Given the description of an element on the screen output the (x, y) to click on. 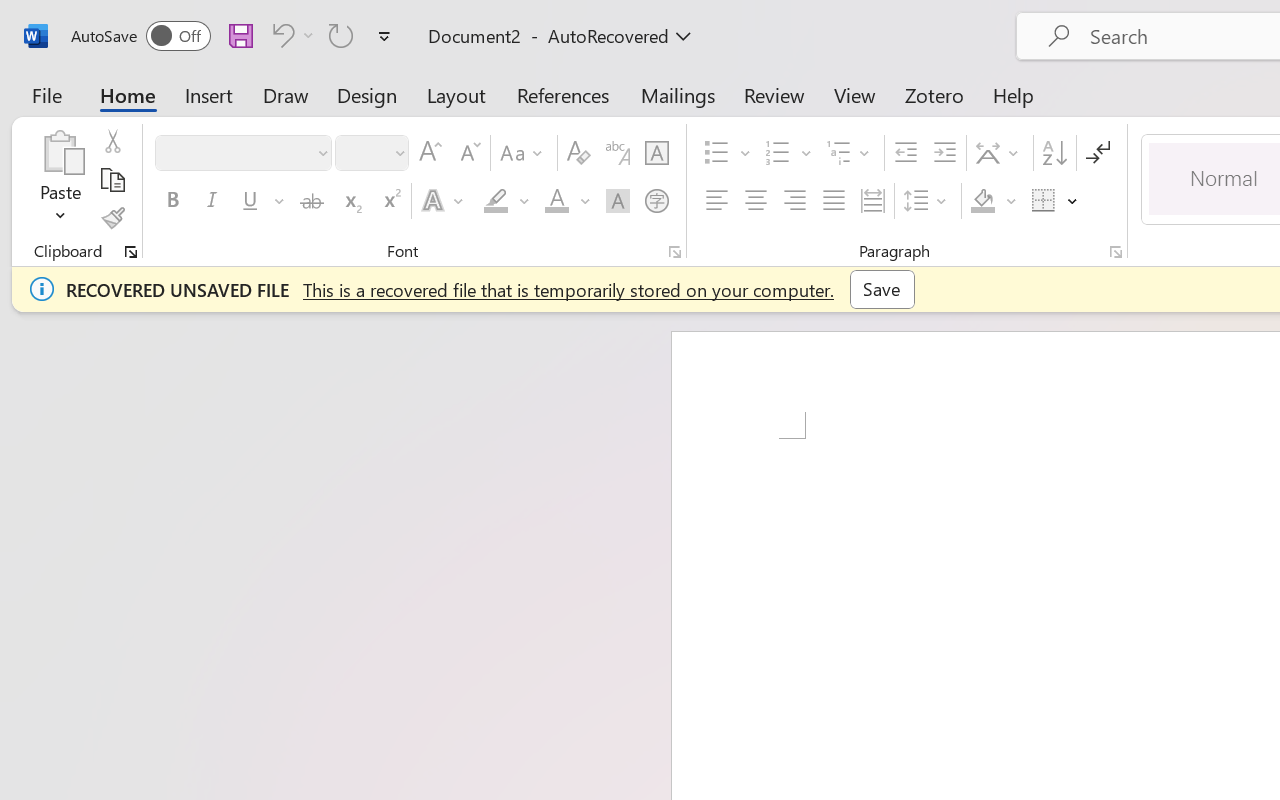
Multilevel List (850, 153)
Bold (172, 201)
Help (1013, 94)
Align Left (716, 201)
Office Clipboard... (131, 252)
Shrink Font (468, 153)
